Given the description of an element on the screen output the (x, y) to click on. 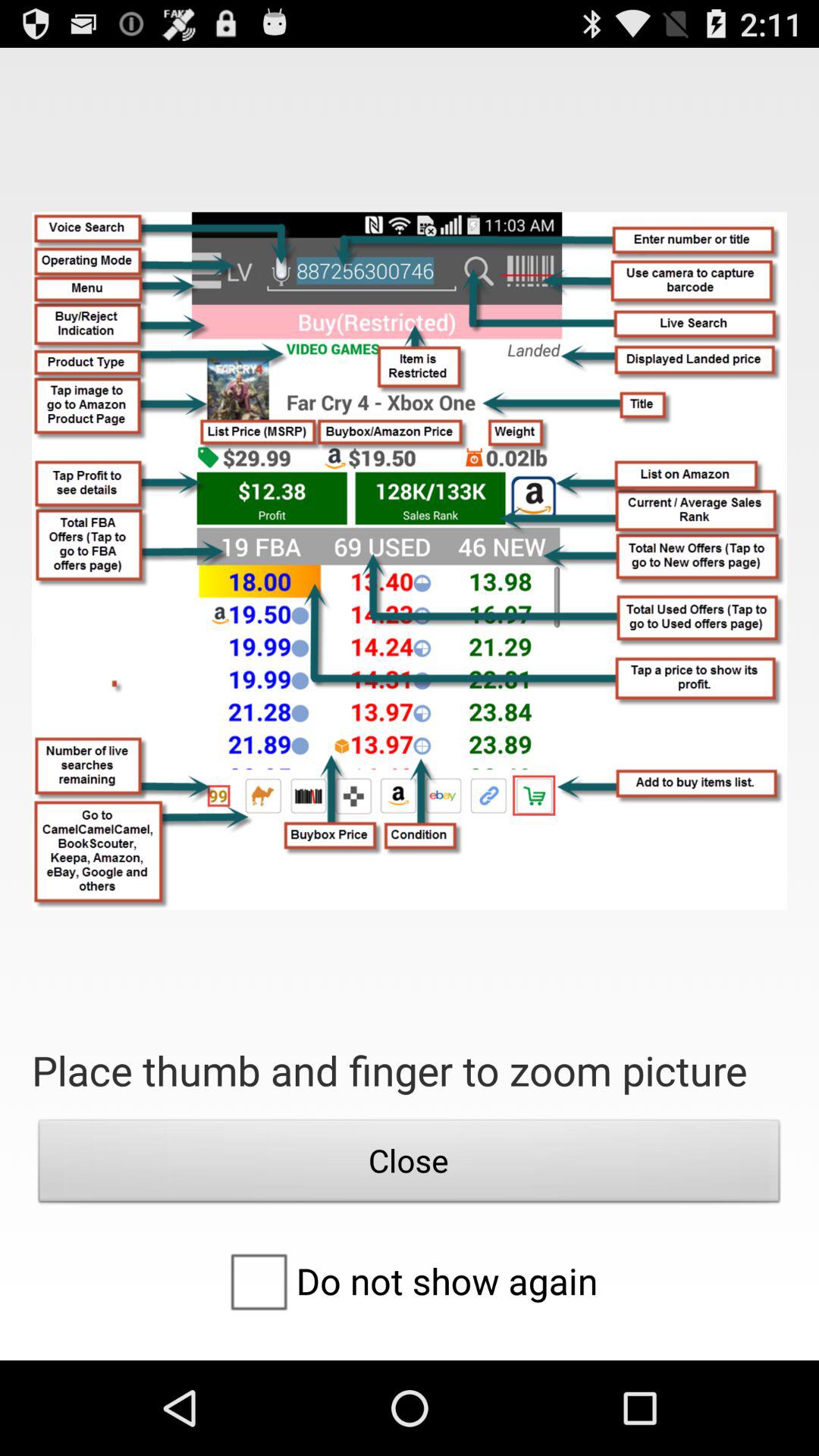
choose icon at the center (409, 560)
